Given the description of an element on the screen output the (x, y) to click on. 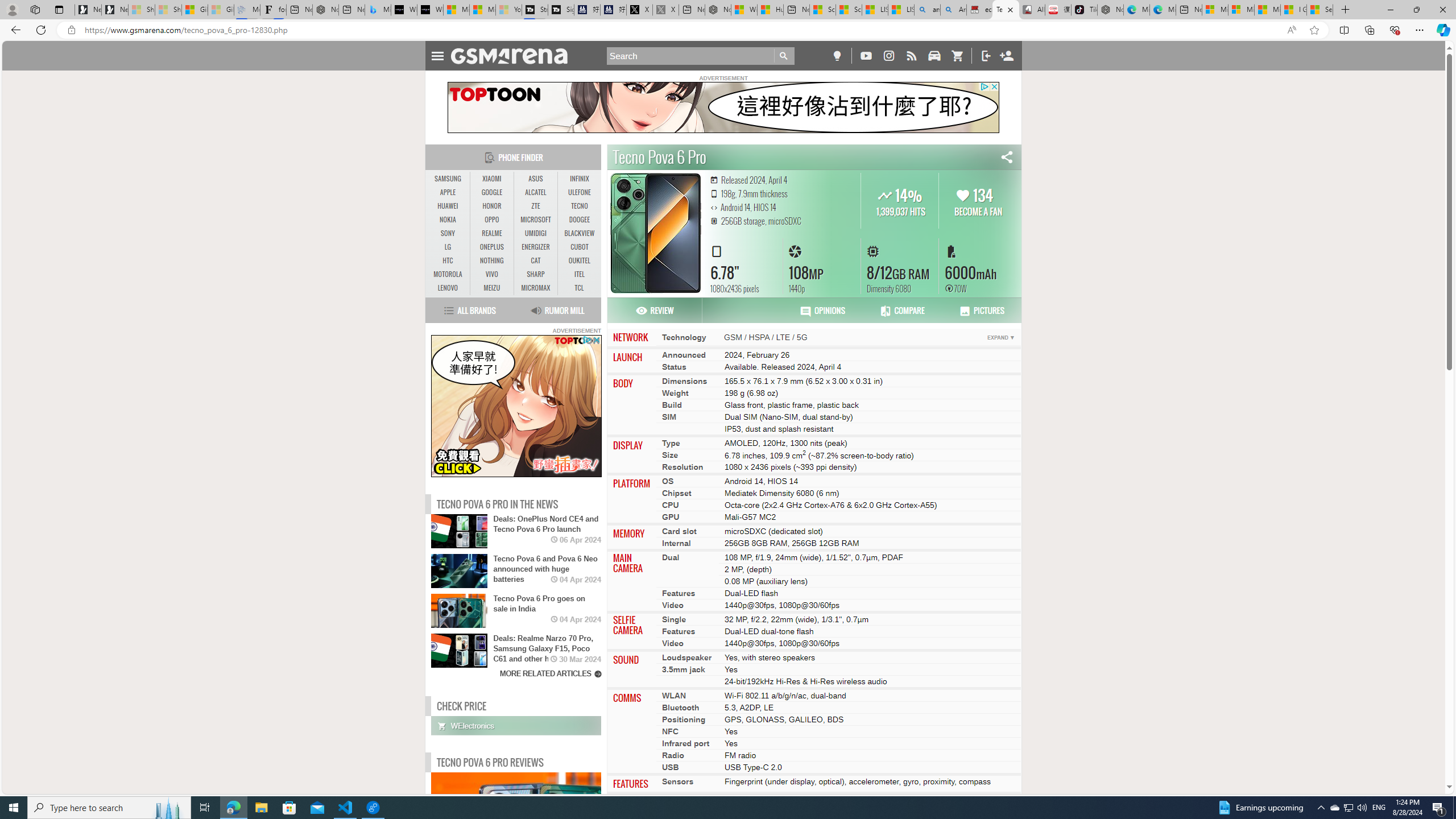
MICROSOFT (535, 219)
AutomationID: close_button_svg (596, 339)
Chipset (676, 492)
NOTHING (491, 260)
LG (448, 246)
Toggle Navigation (437, 53)
HONOR (491, 205)
ZTE (535, 205)
Dual (670, 557)
Status (673, 366)
